Given the description of an element on the screen output the (x, y) to click on. 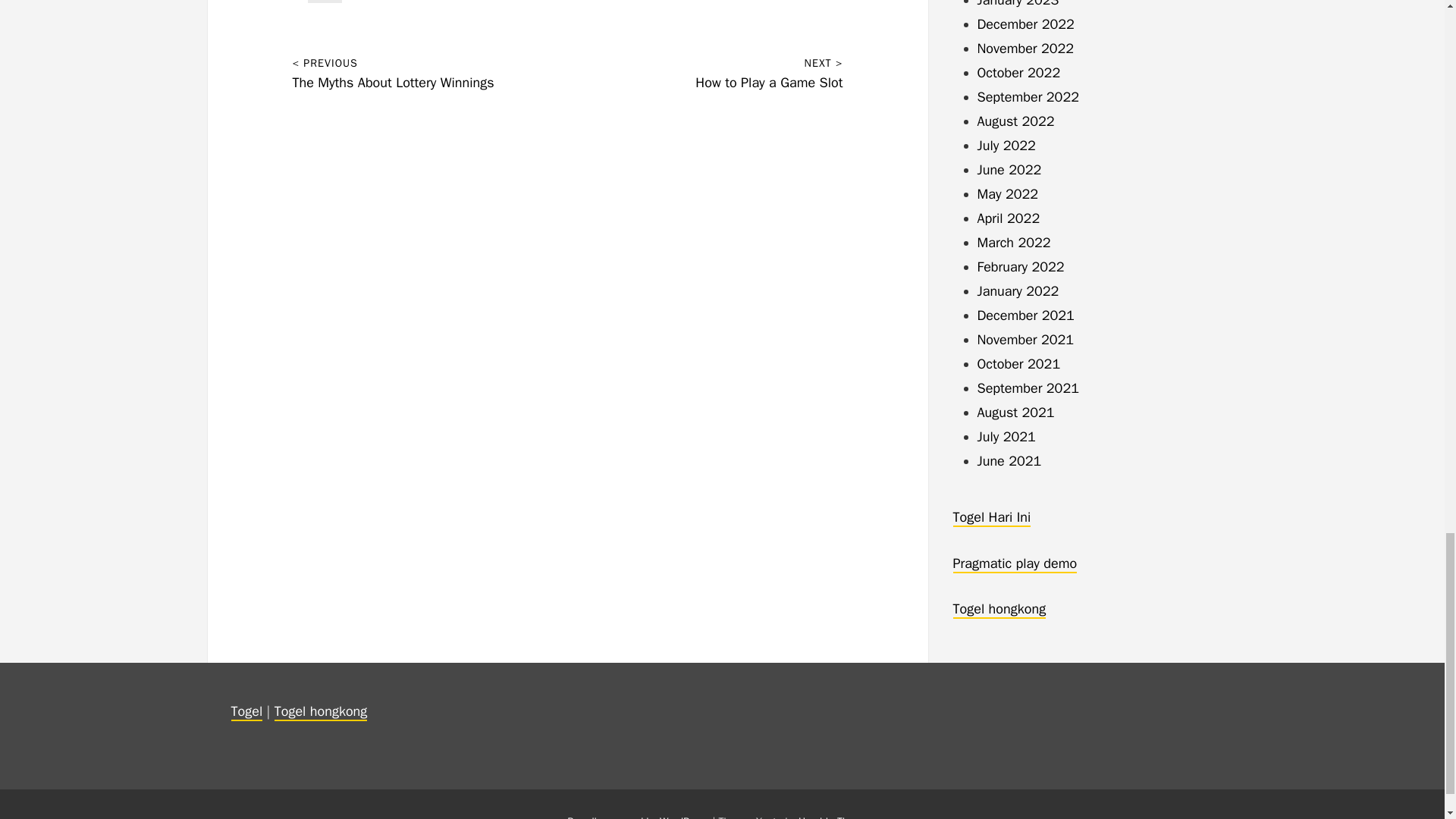
Blog (324, 1)
